Given the description of an element on the screen output the (x, y) to click on. 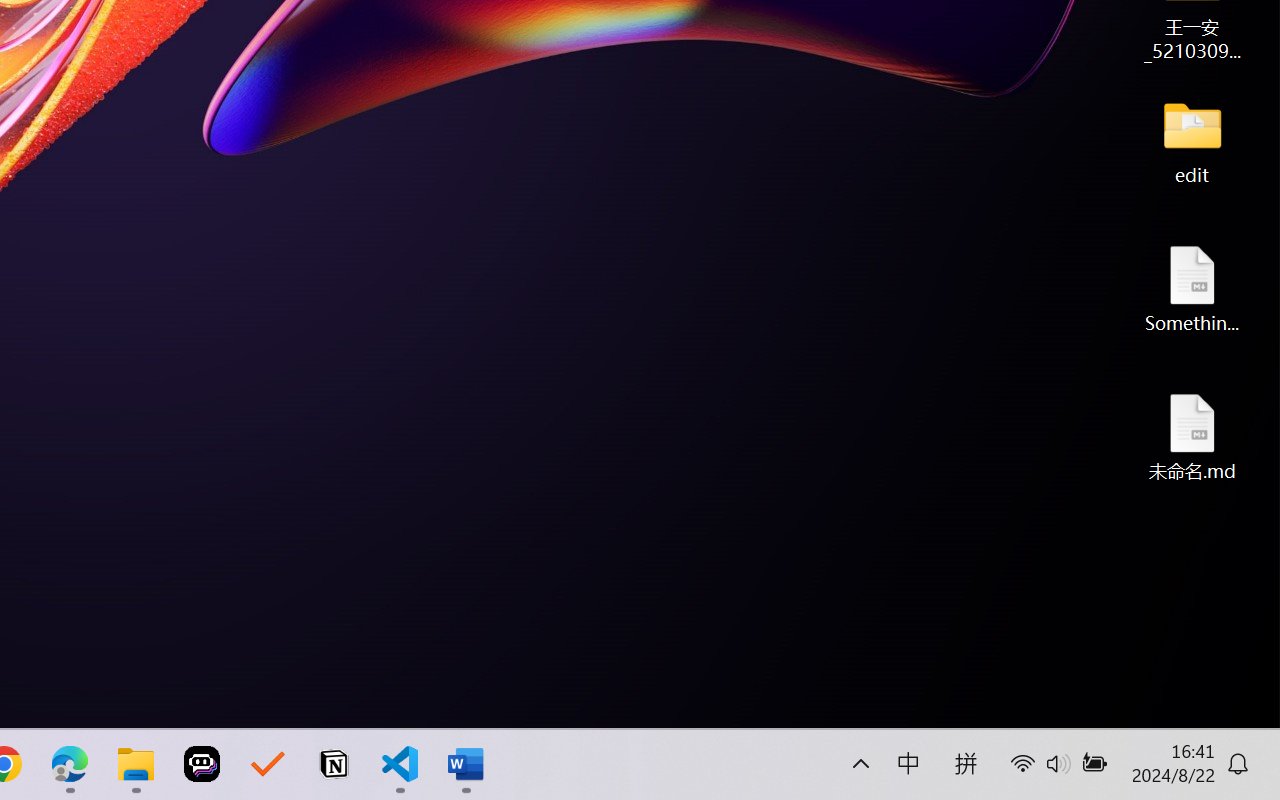
edit (1192, 140)
Something.md (1192, 288)
